Given the description of an element on the screen output the (x, y) to click on. 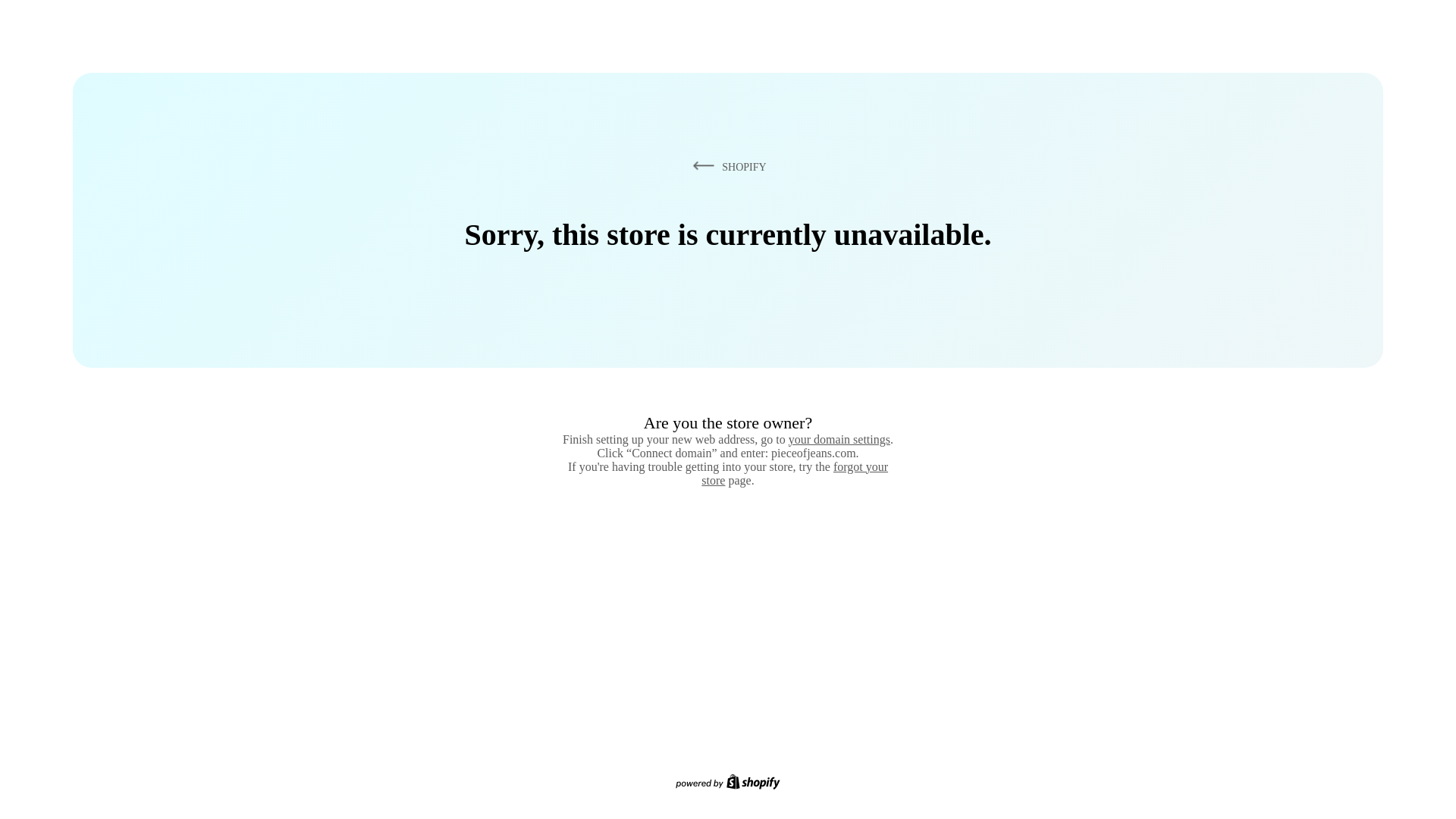
your domain settings (839, 439)
SHOPIFY (726, 166)
forgot your store (794, 473)
